Given the description of an element on the screen output the (x, y) to click on. 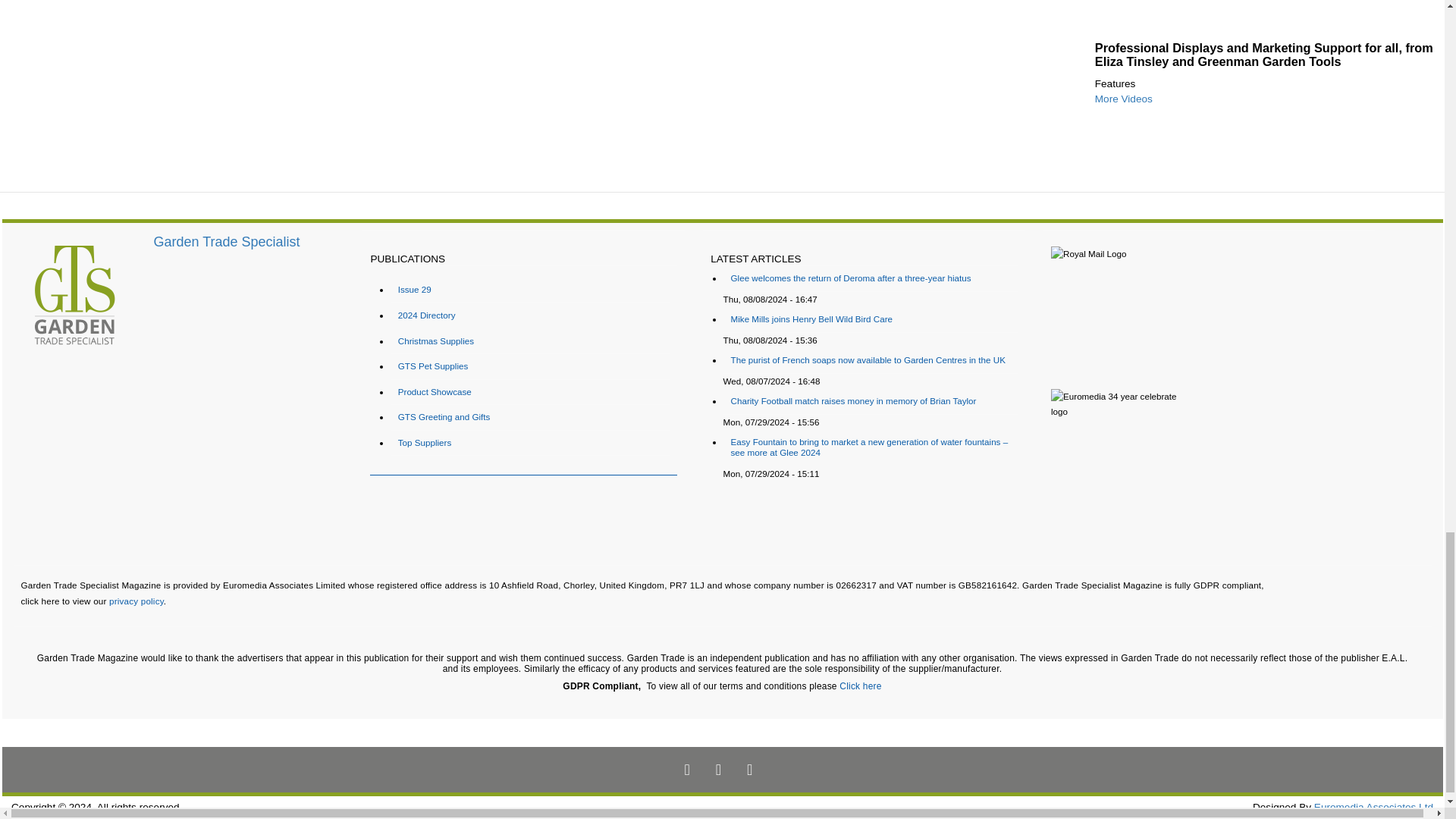
Home (226, 241)
Euromedia 34 year celebrate logo (1126, 460)
Home (77, 297)
Royal Mail Logo (1209, 310)
